Given the description of an element on the screen output the (x, y) to click on. 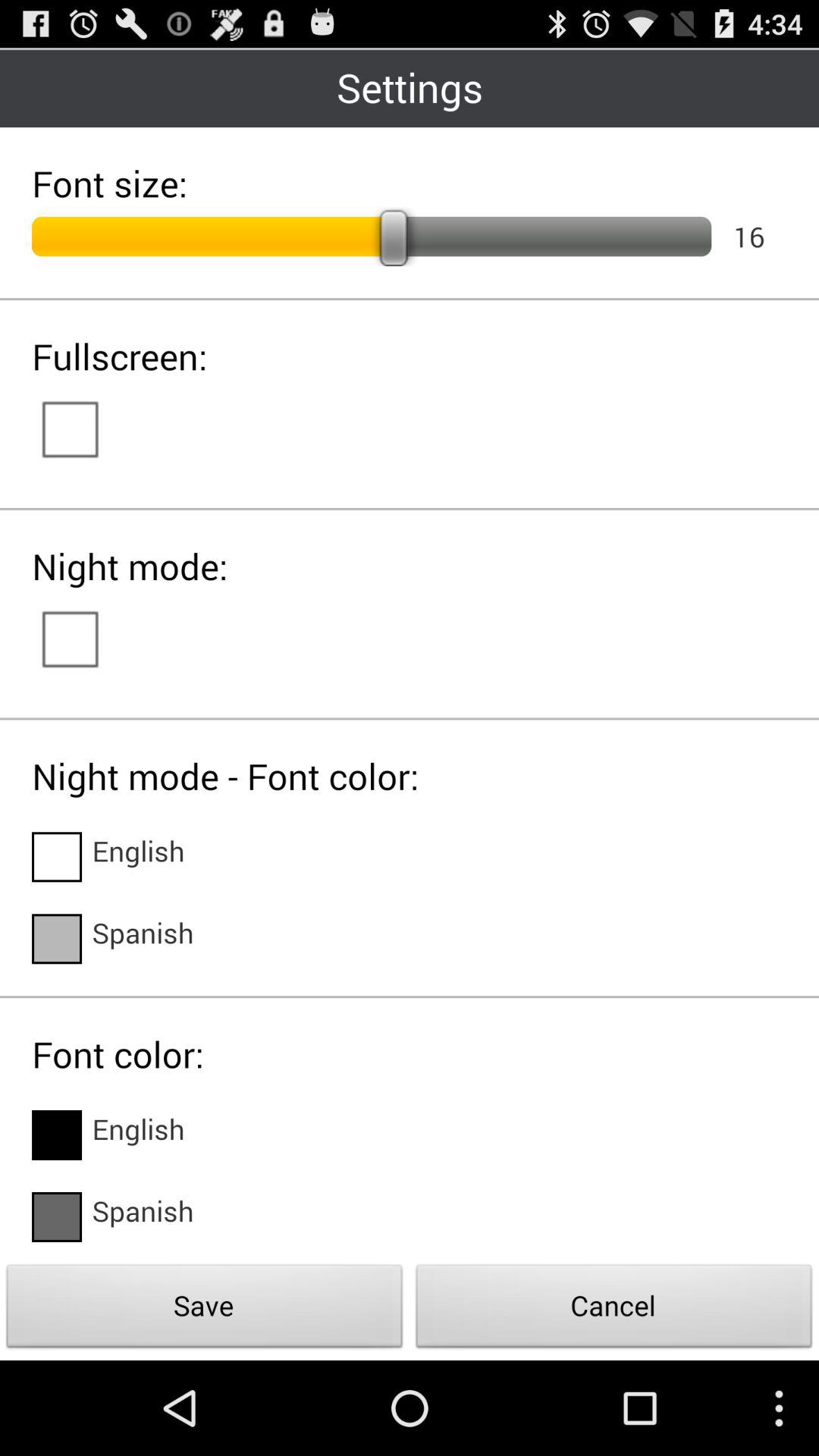
press item at the bottom right corner (614, 1310)
